Given the description of an element on the screen output the (x, y) to click on. 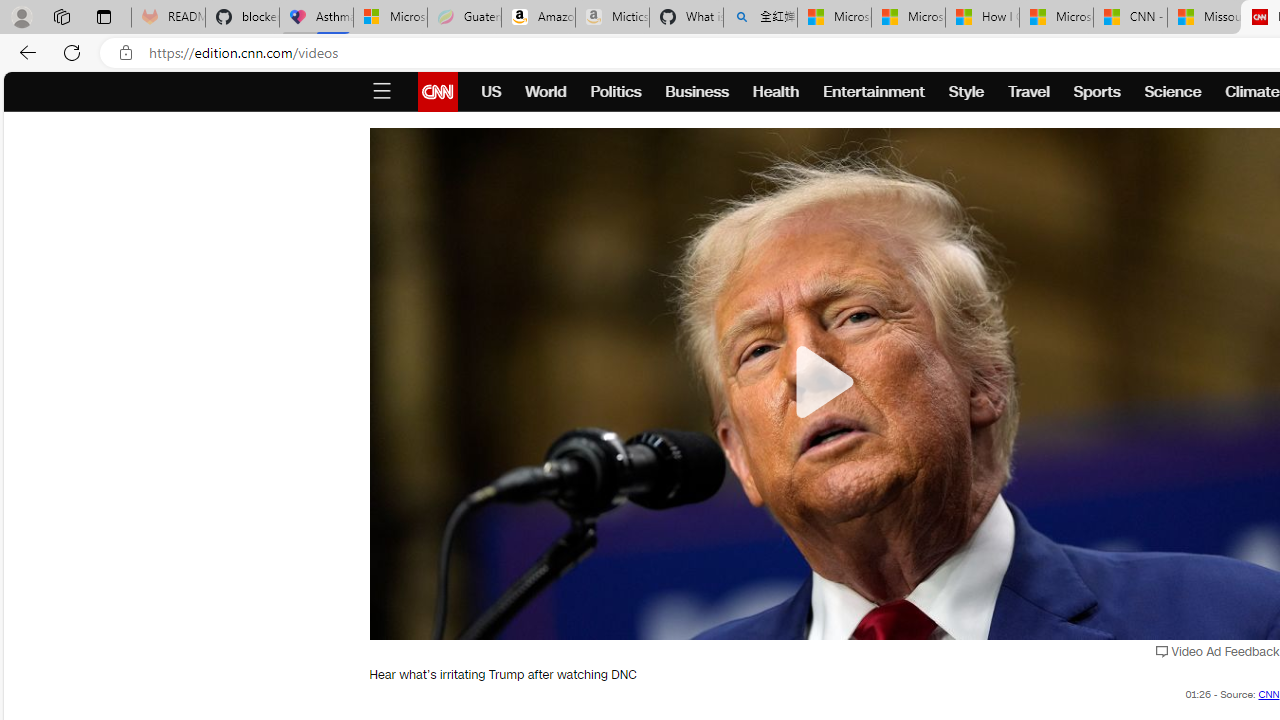
World (545, 92)
CNN (1269, 694)
CNN - MSN (1130, 17)
Sports (1096, 92)
Climate (1252, 92)
Open Menu Icon (381, 92)
